Given the description of an element on the screen output the (x, y) to click on. 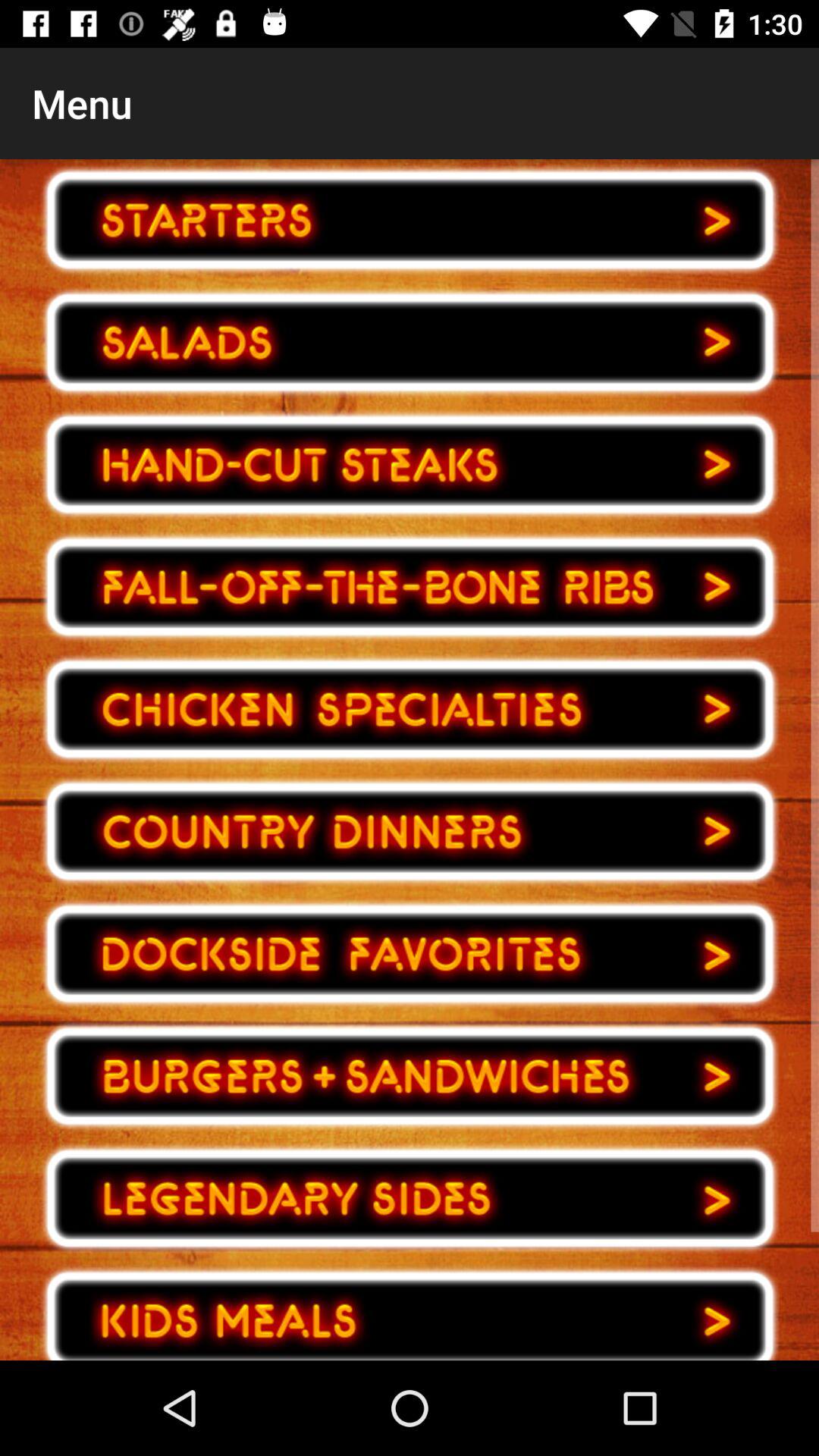
choose food (409, 464)
